Given the description of an element on the screen output the (x, y) to click on. 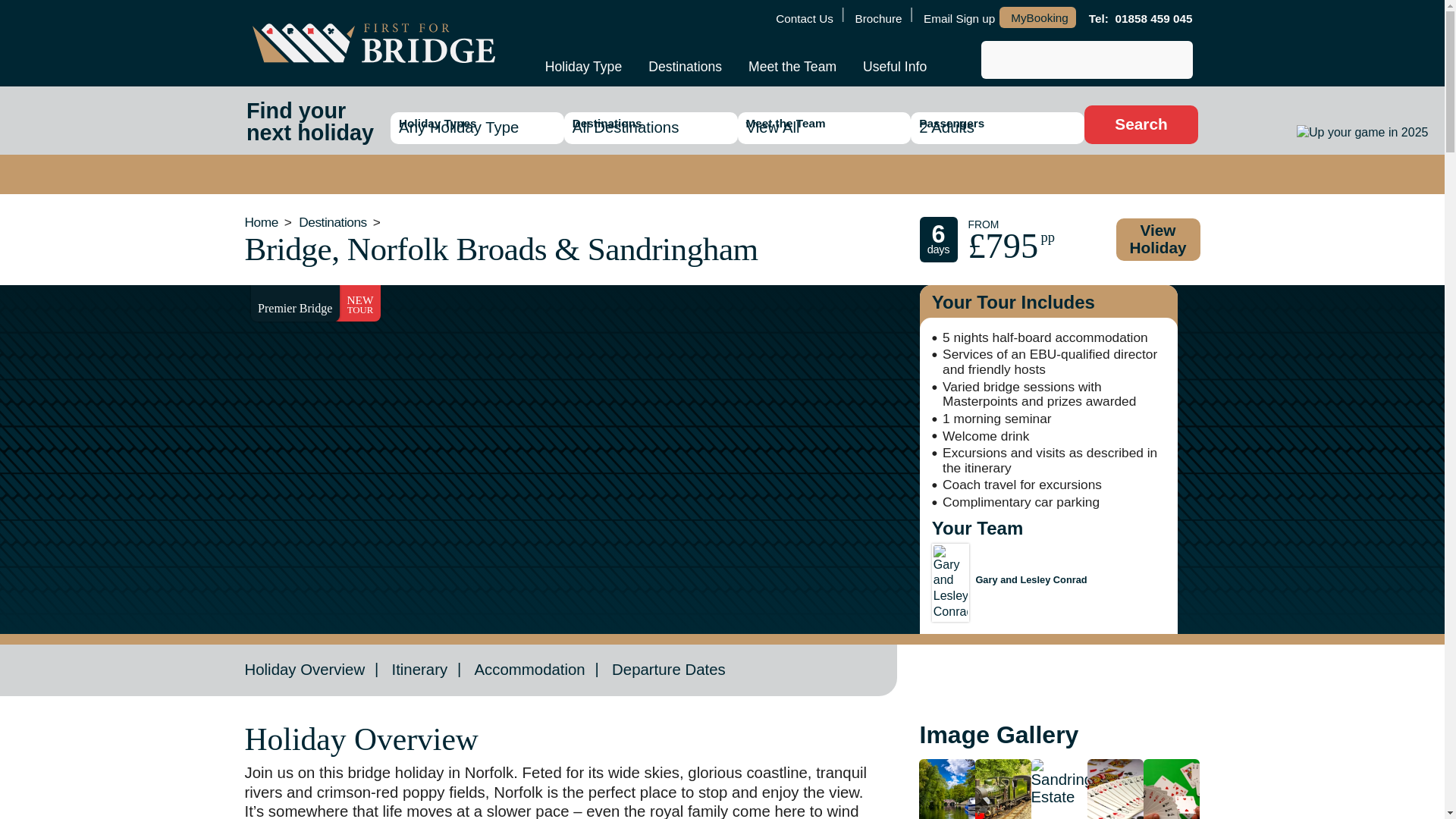
Search (1141, 124)
Email Sign up (958, 18)
Contact Us (803, 18)
Brochure (876, 18)
MyBooking (1036, 17)
First for Bridge (373, 43)
